Given the description of an element on the screen output the (x, y) to click on. 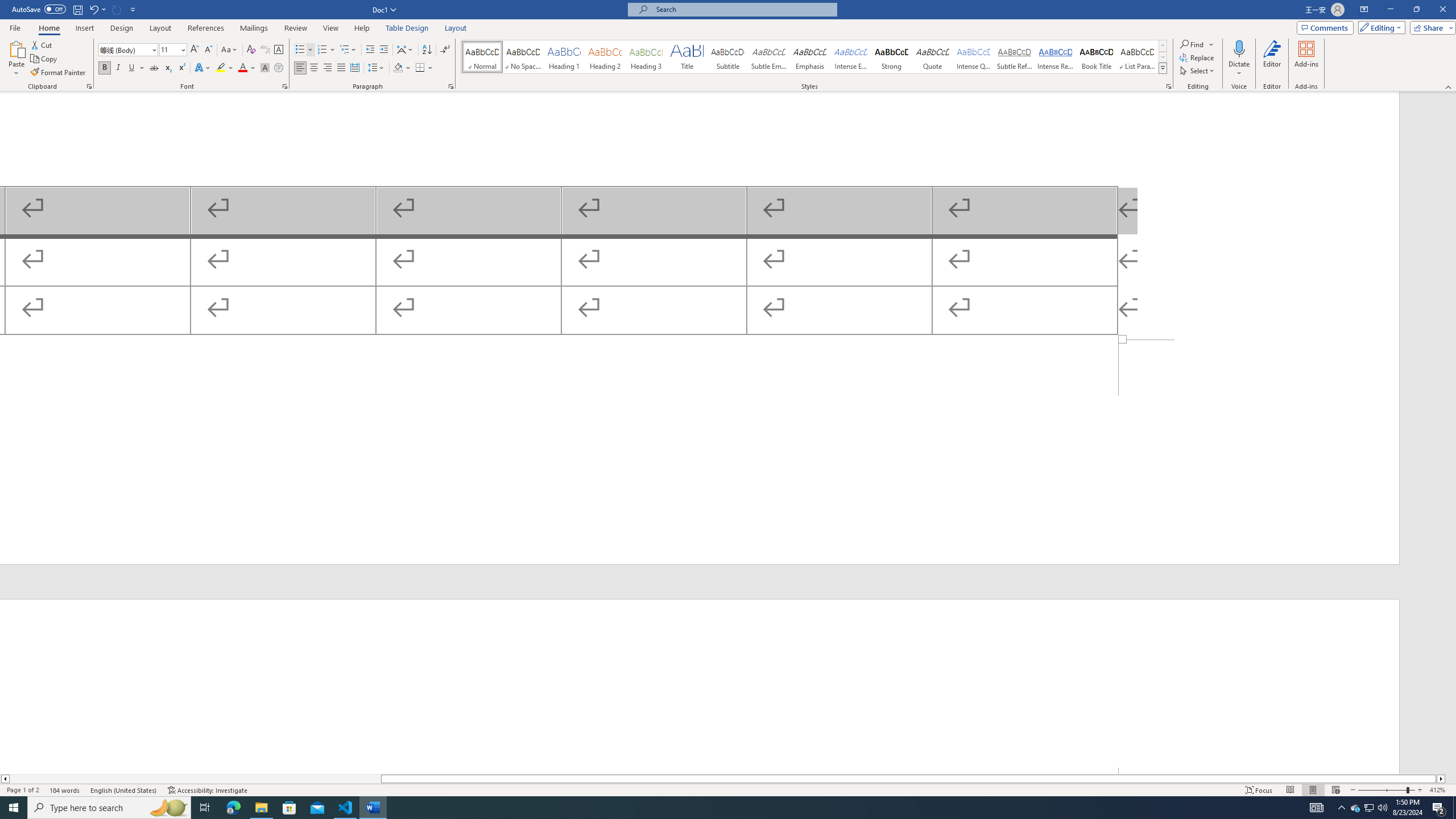
Intense Emphasis (849, 56)
Undo Outline Move Up (96, 9)
